Given the description of an element on the screen output the (x, y) to click on. 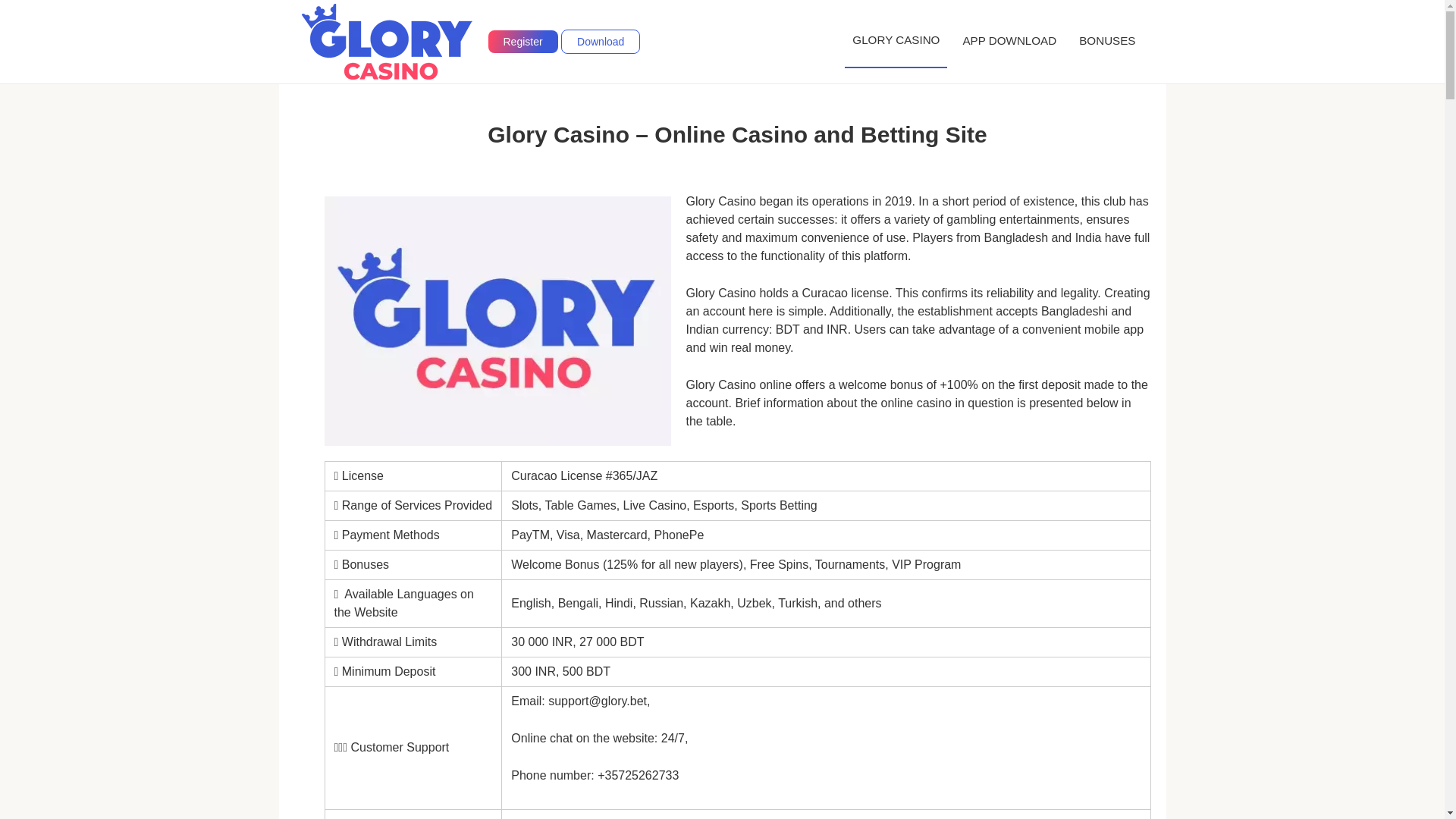
Register (522, 41)
GLORY CASINO (895, 40)
APP DOWNLOAD (1009, 41)
BONUSES (1106, 41)
Download (600, 41)
